Given the description of an element on the screen output the (x, y) to click on. 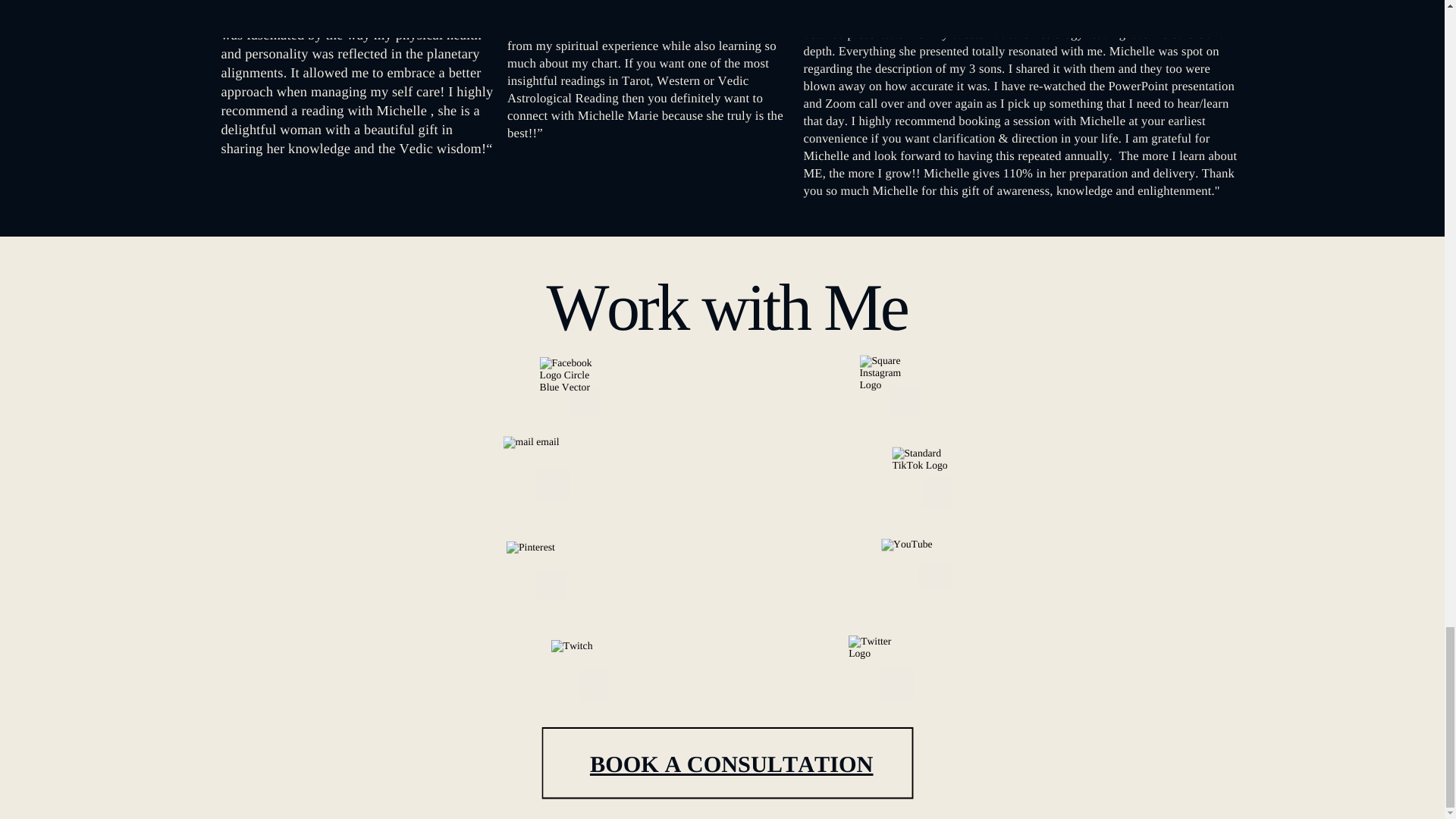
BOOK A CONSULTATION (731, 764)
